Given the description of an element on the screen output the (x, y) to click on. 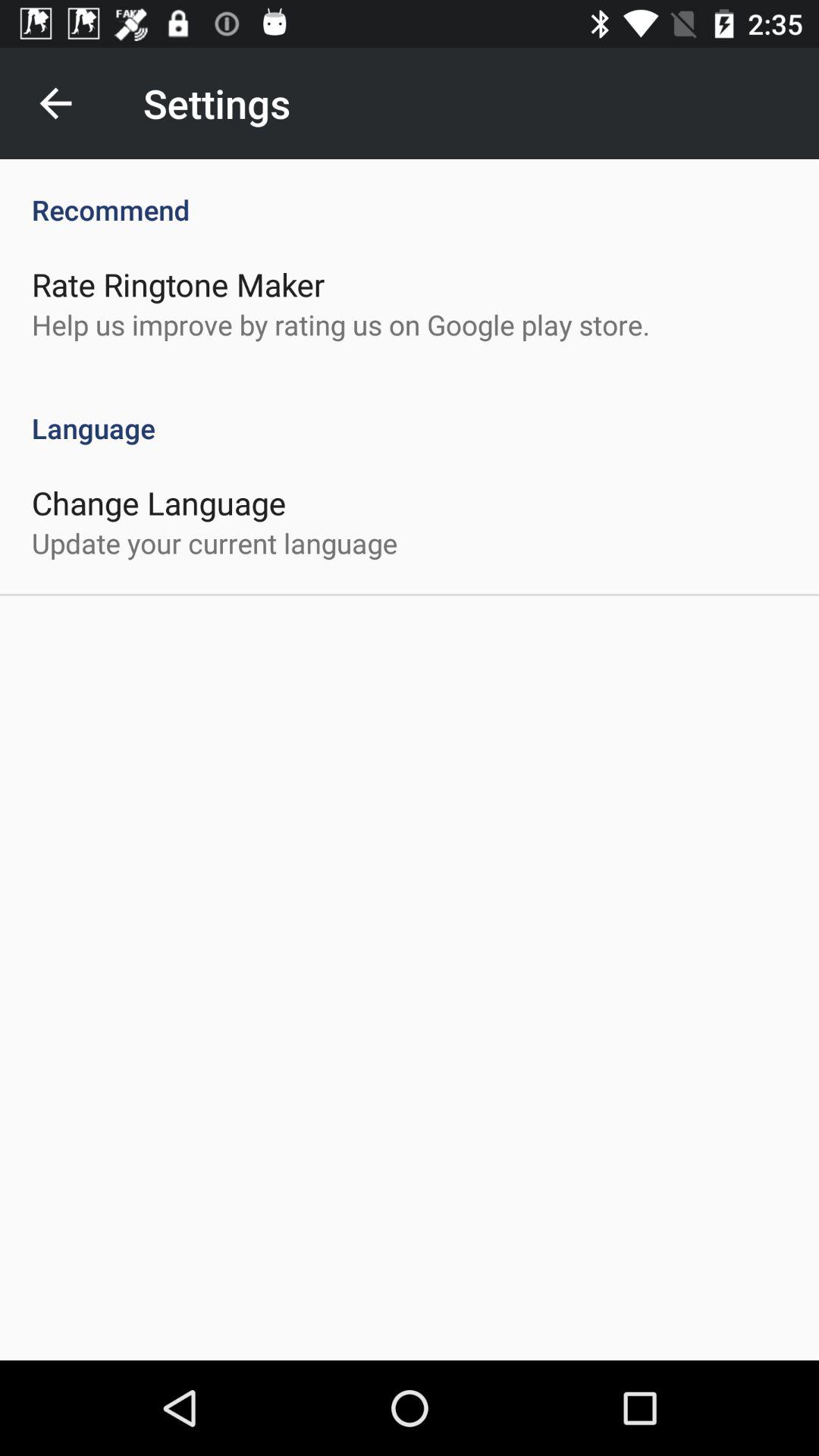
flip until the update your current item (214, 542)
